Given the description of an element on the screen output the (x, y) to click on. 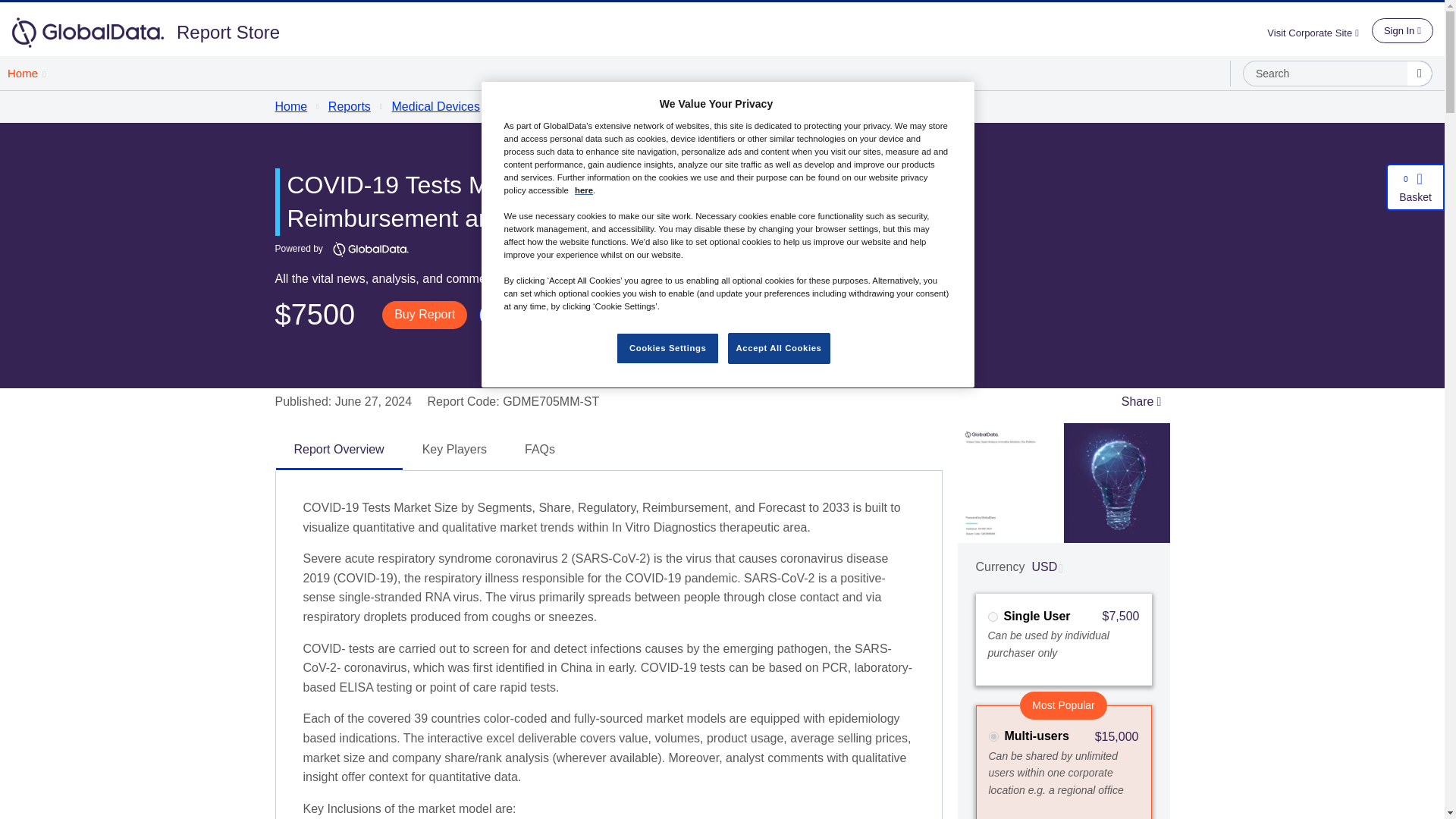
1948930 (992, 615)
Sign In (1401, 30)
1948931 (993, 737)
Visit Corporate Site (1318, 31)
Home (26, 73)
